Given the description of an element on the screen output the (x, y) to click on. 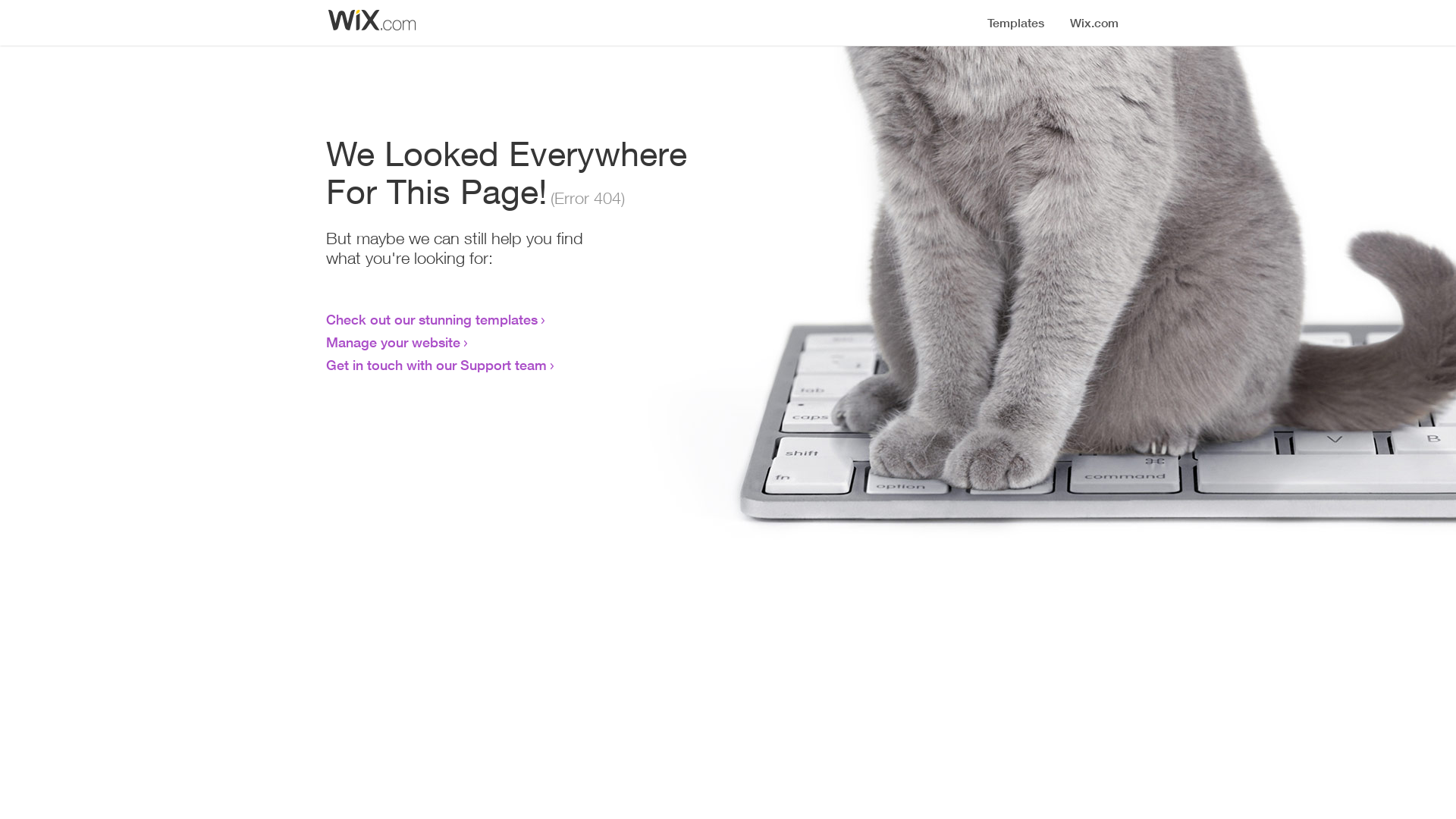
Get in touch with our Support team Element type: text (436, 364)
Check out our stunning templates Element type: text (431, 318)
Manage your website Element type: text (393, 341)
